Given the description of an element on the screen output the (x, y) to click on. 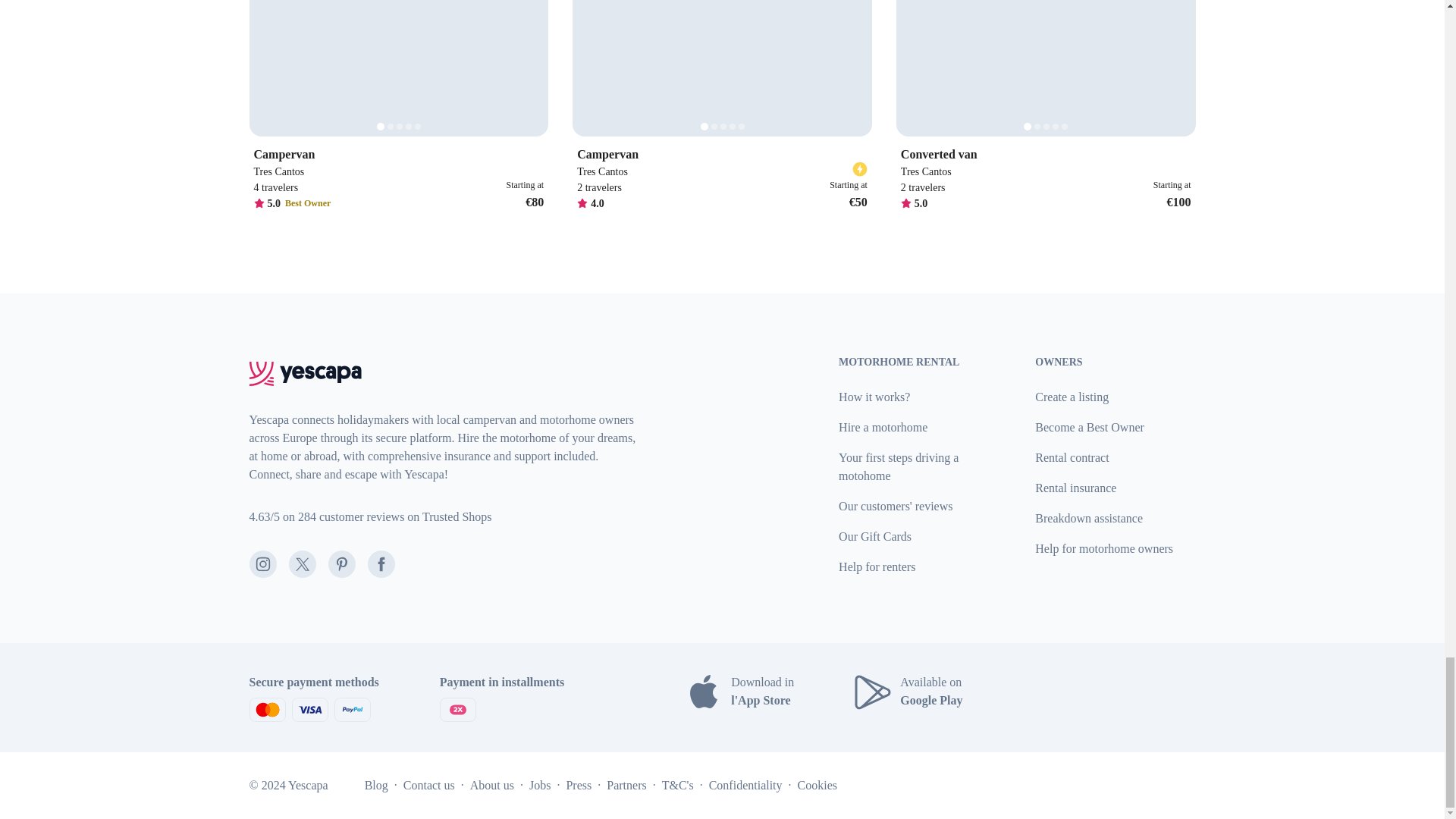
Converted van (1046, 154)
Campervan (398, 154)
Campervan (721, 154)
yescapa.fr custom reviews (370, 517)
